Given the description of an element on the screen output the (x, y) to click on. 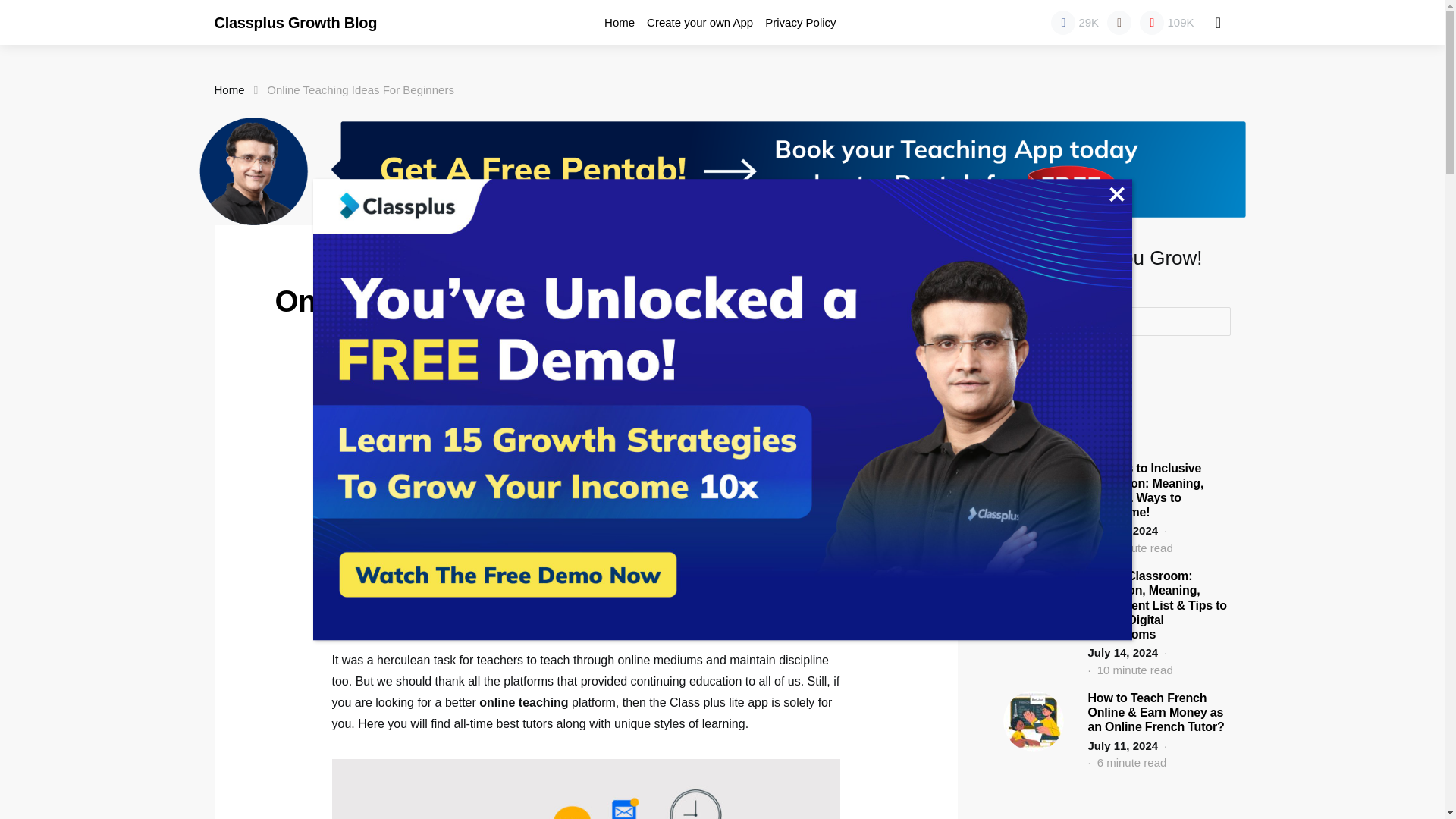
Evolution of Online Teaching- Boon or Curse (452, 465)
Best Teaching Ideas for Online Education (444, 484)
Effective Online Teaching Strategies (431, 502)
